Given the description of an element on the screen output the (x, y) to click on. 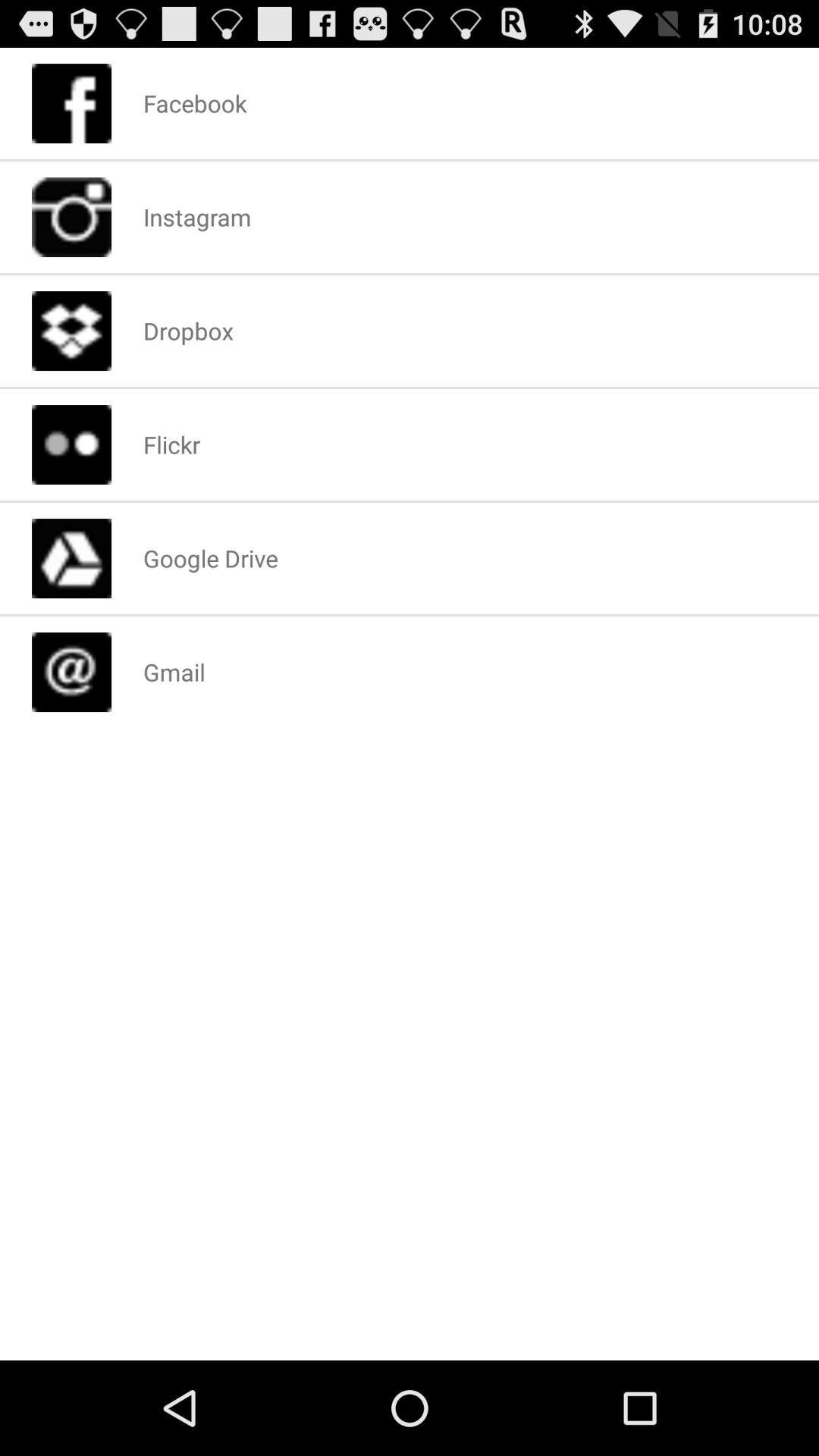
turn on the item above the gmail icon (210, 558)
